Given the description of an element on the screen output the (x, y) to click on. 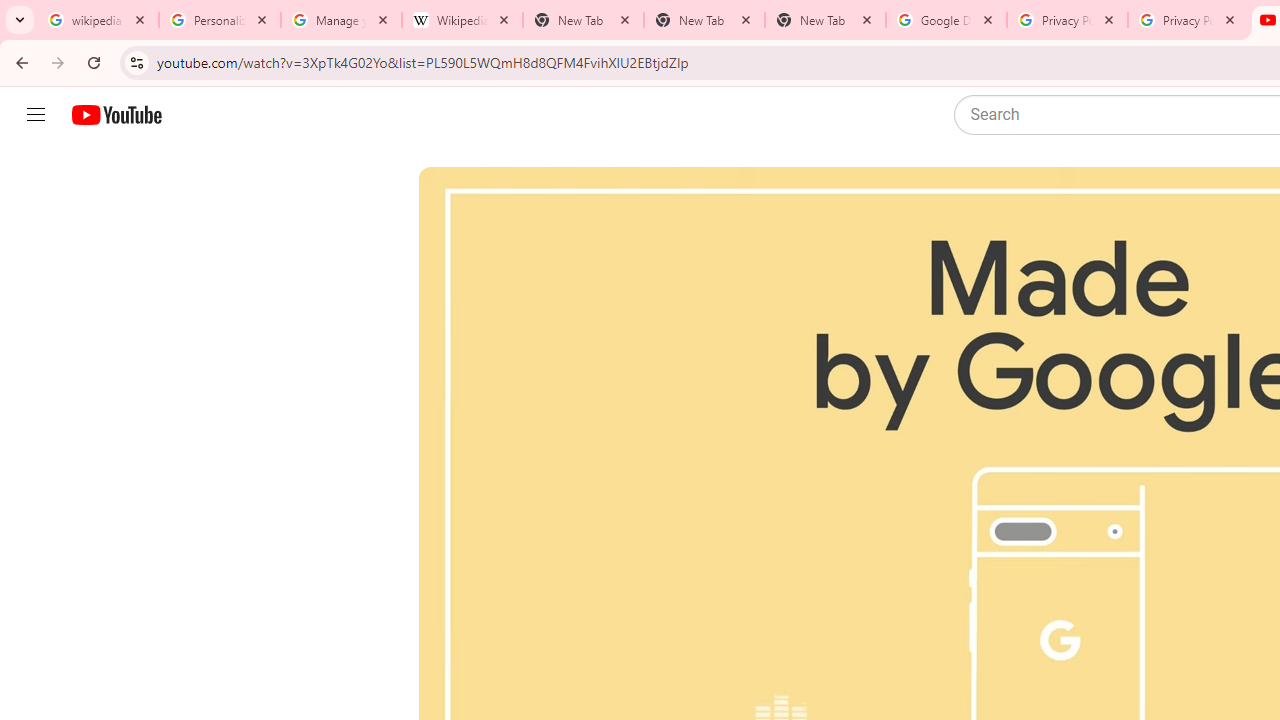
YouTube Home (116, 115)
Manage your Location History - Google Search Help (340, 20)
